Given the description of an element on the screen output the (x, y) to click on. 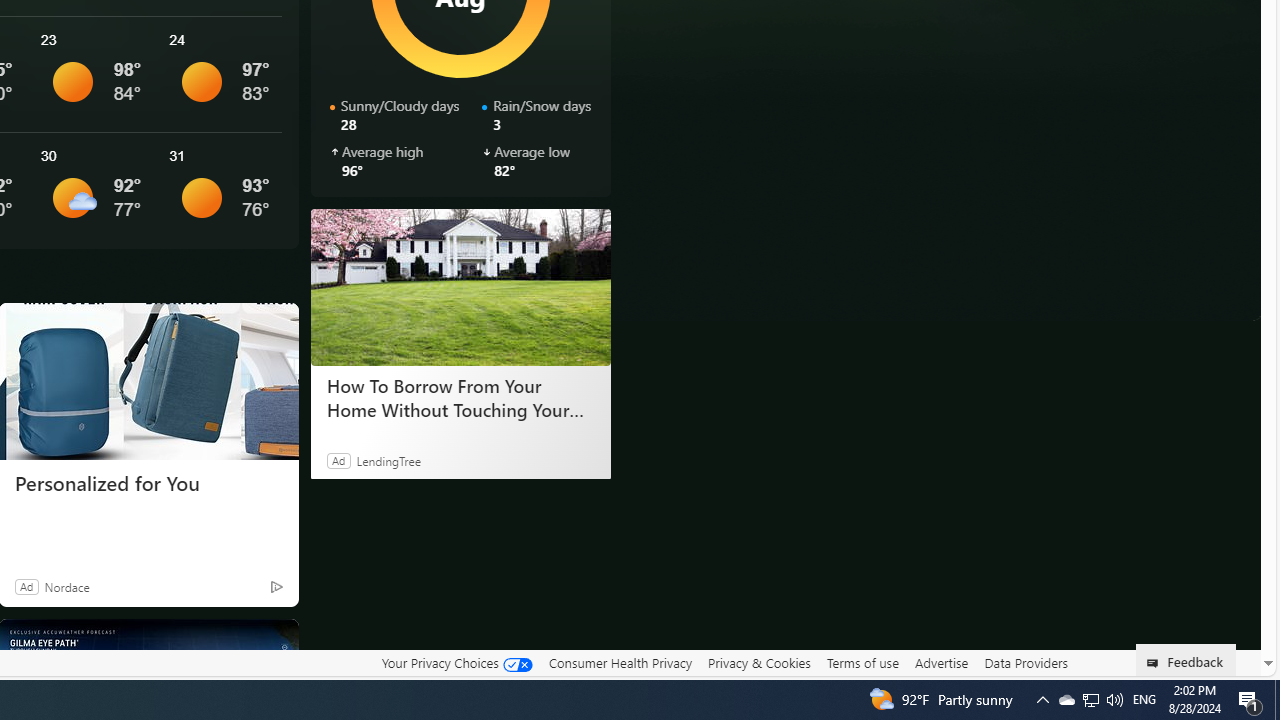
Consumer Health Privacy (619, 662)
Class: feedback_link_icon-DS-EntryPoint1-1 (1156, 663)
How To Borrow From Your Home Without Touching Your Mortgage (460, 397)
Data Providers (1025, 663)
How To Borrow From Your Home Without Touching Your Mortgage (459, 286)
Terms of use (861, 662)
See More Details (221, 190)
Data Providers (1025, 662)
